Given the description of an element on the screen output the (x, y) to click on. 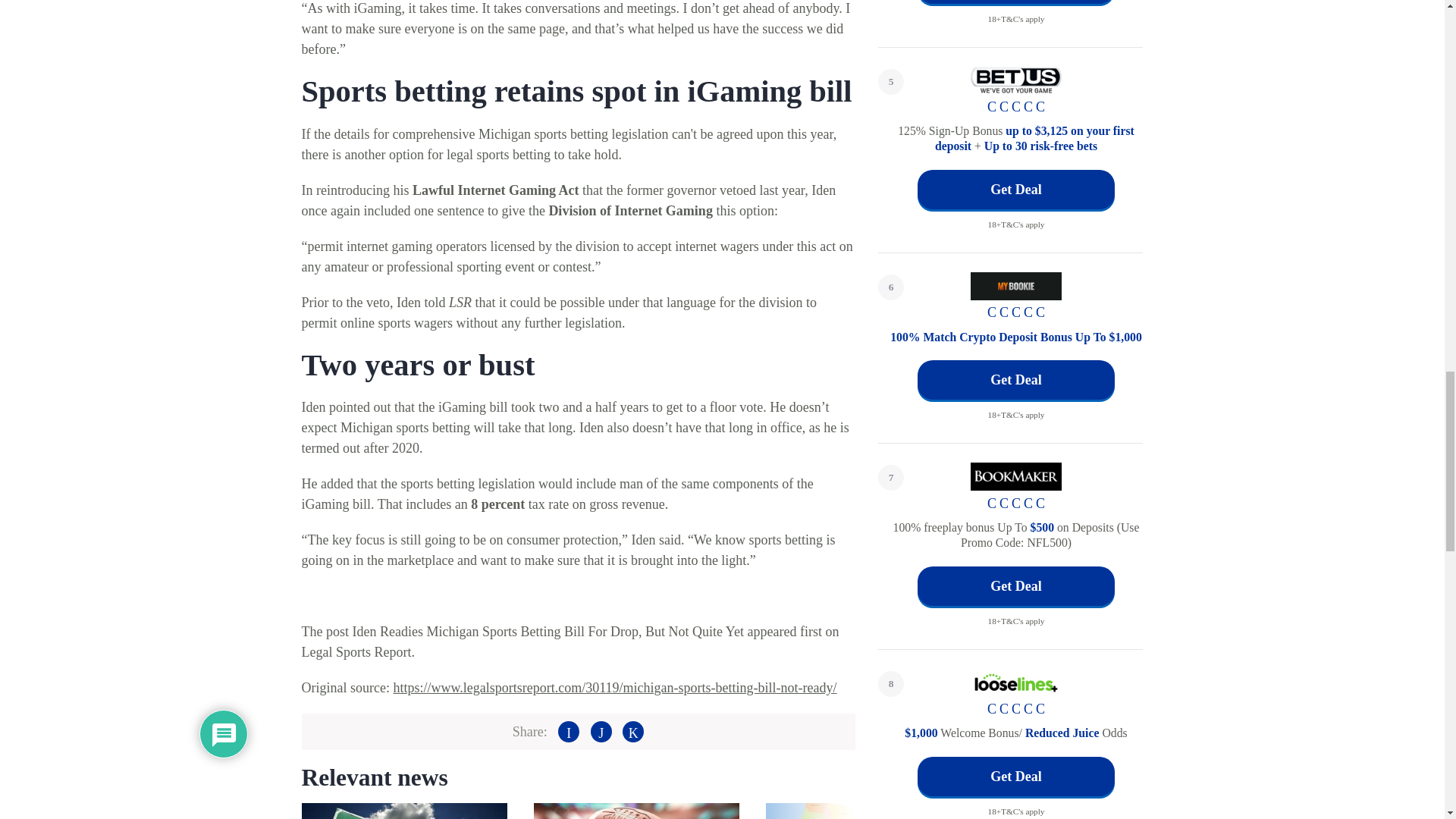
Share on Facebook (568, 731)
Sports Betting Laws by State 4 (868, 811)
Share by email (633, 731)
Share on Twitter (601, 731)
